Given the description of an element on the screen output the (x, y) to click on. 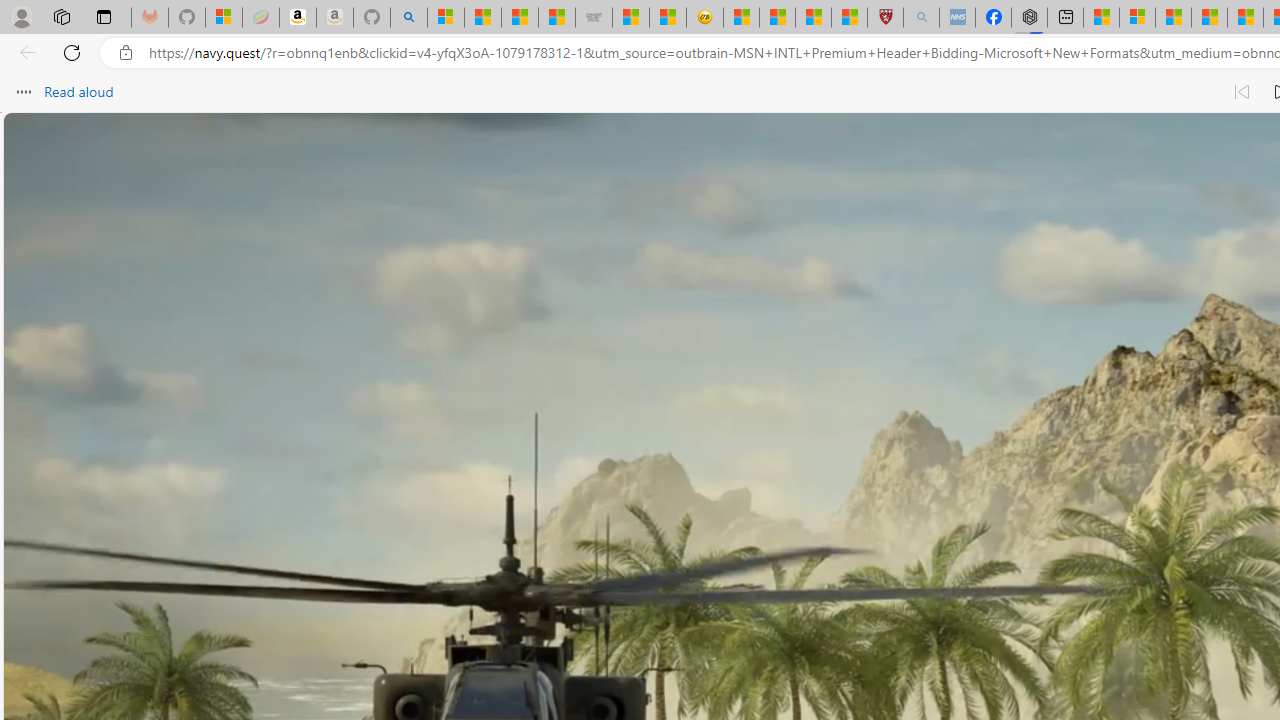
Microsoft-Report a Concern to Bing (223, 17)
NCL Adult Asthma Inhaler Choice Guideline - Sleeping (957, 17)
Read previous paragraph (1241, 92)
Combat Siege (593, 17)
Stocks - MSN (556, 17)
